Given the description of an element on the screen output the (x, y) to click on. 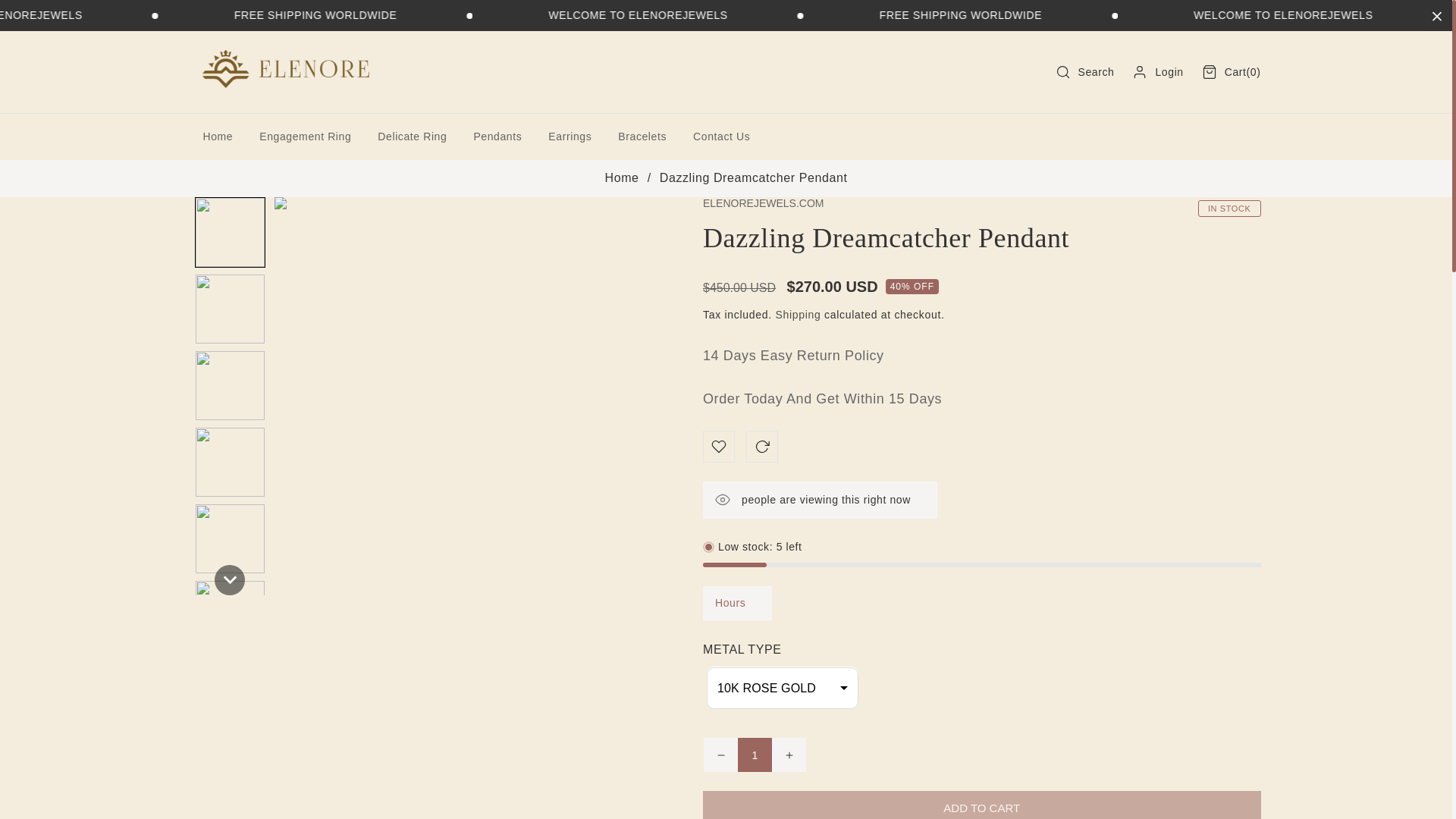
Skip to content (265, 15)
1 (45, 17)
Home (754, 754)
